Given the description of an element on the screen output the (x, y) to click on. 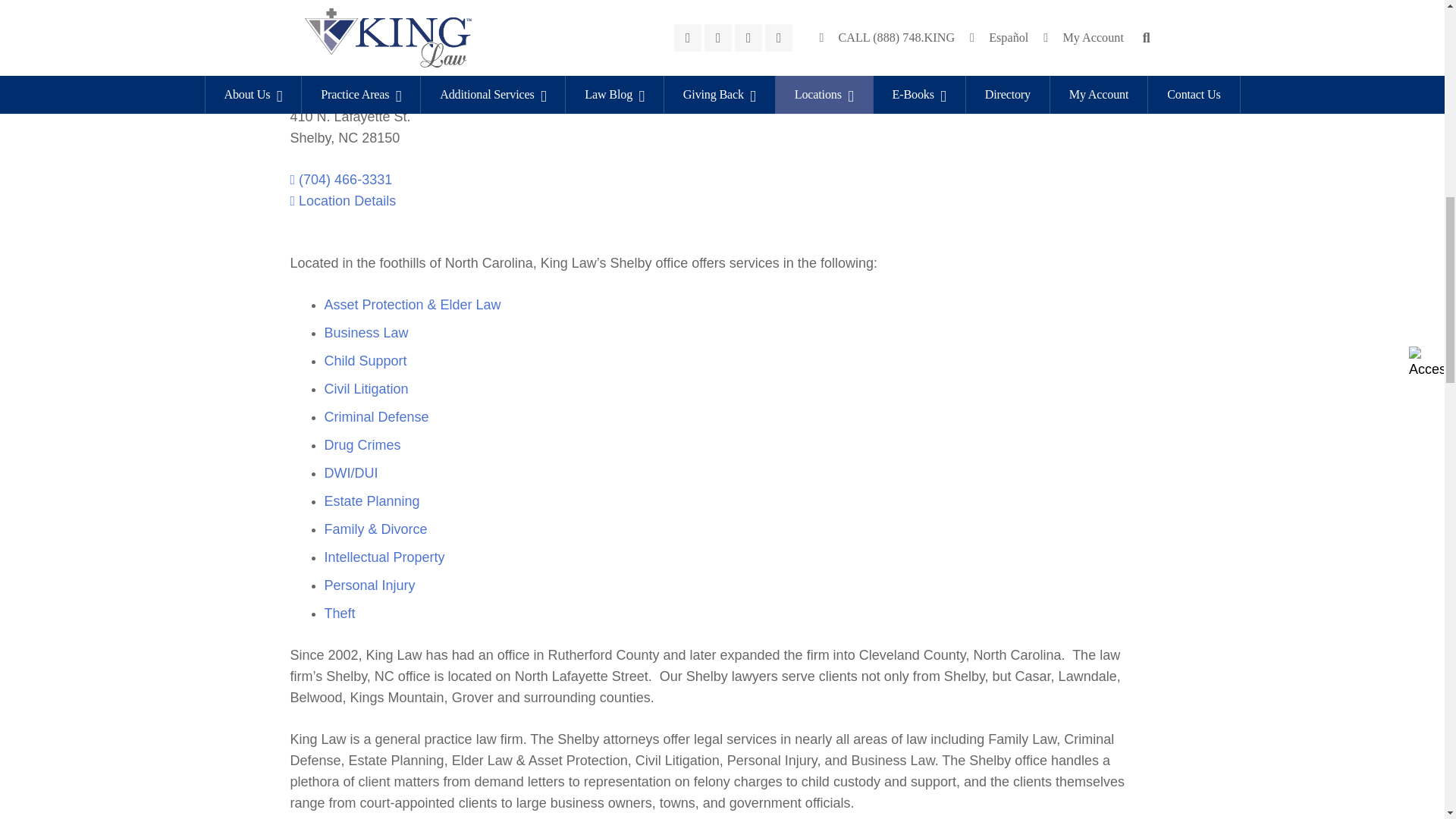
Back to top (1413, 37)
